Given the description of an element on the screen output the (x, y) to click on. 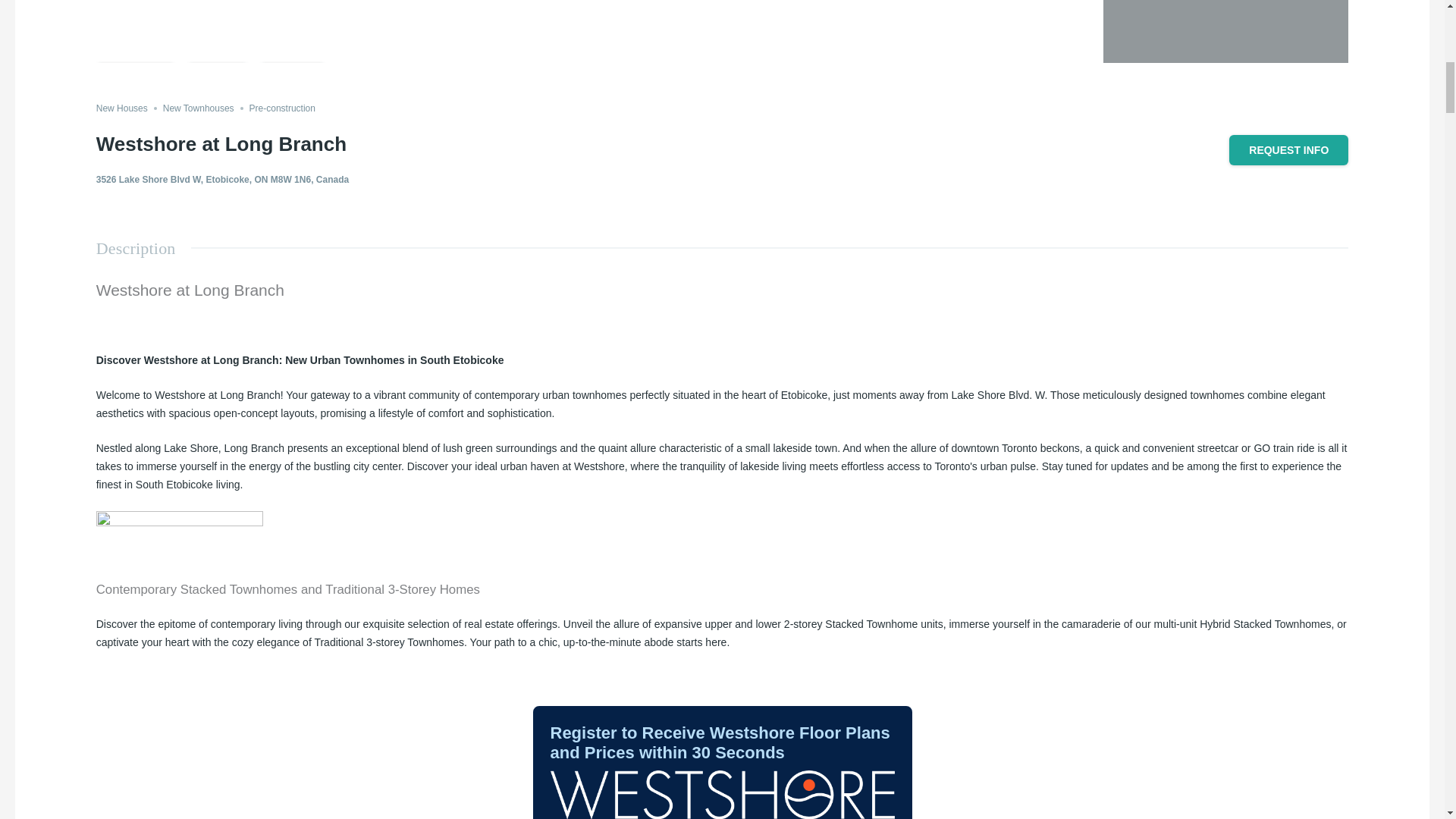
REQUEST INFO (1288, 150)
